Given the description of an element on the screen output the (x, y) to click on. 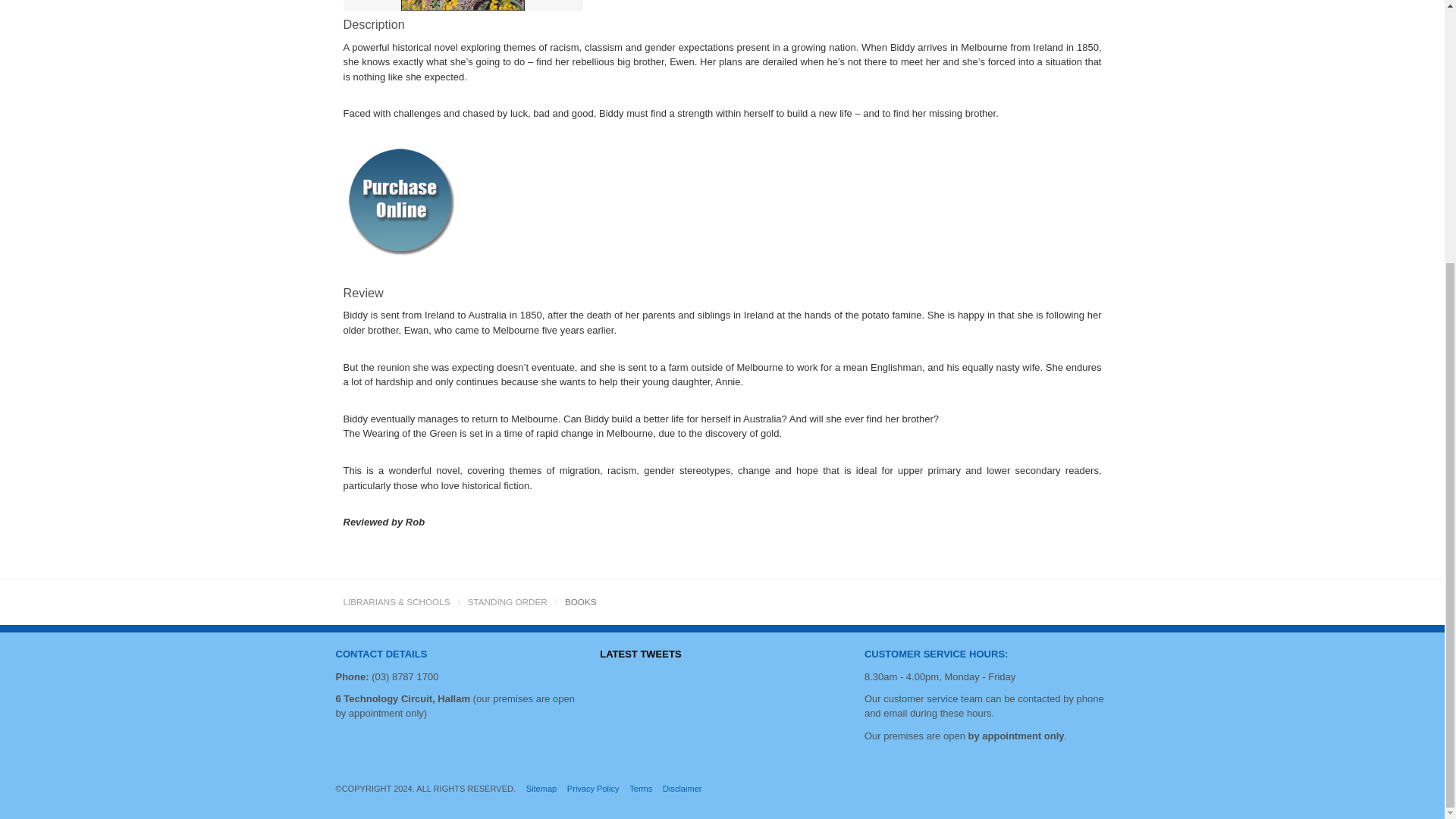
Click to Purchase Online (399, 198)
Contact Us (936, 654)
Purchase Online (399, 199)
